Given the description of an element on the screen output the (x, y) to click on. 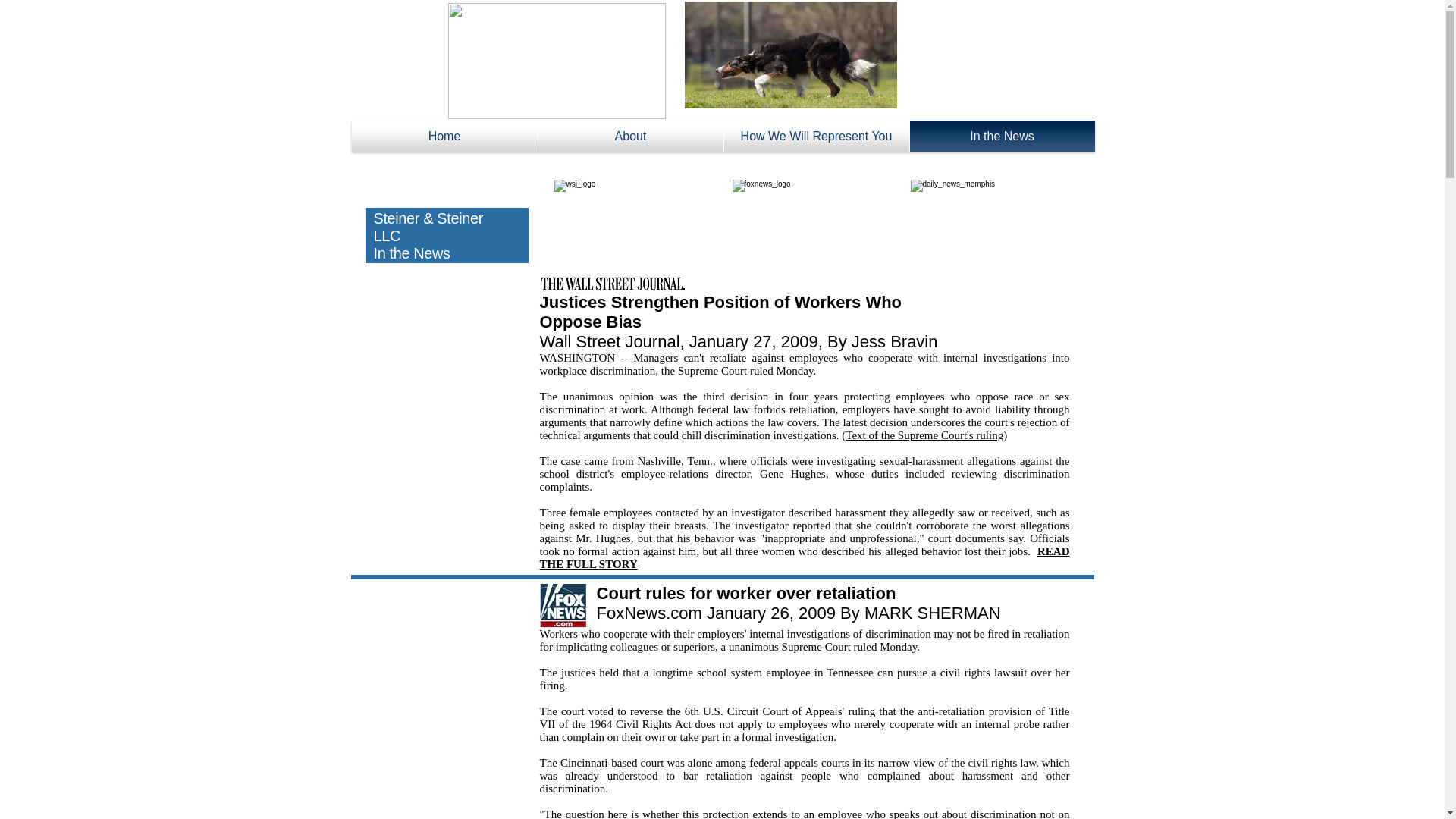
About (630, 135)
Home (444, 135)
READ THE FULL STORY (805, 557)
How We Will Represent You (815, 135)
Text of the Supreme Court's ruling (924, 435)
In the News (1002, 135)
